Given the description of an element on the screen output the (x, y) to click on. 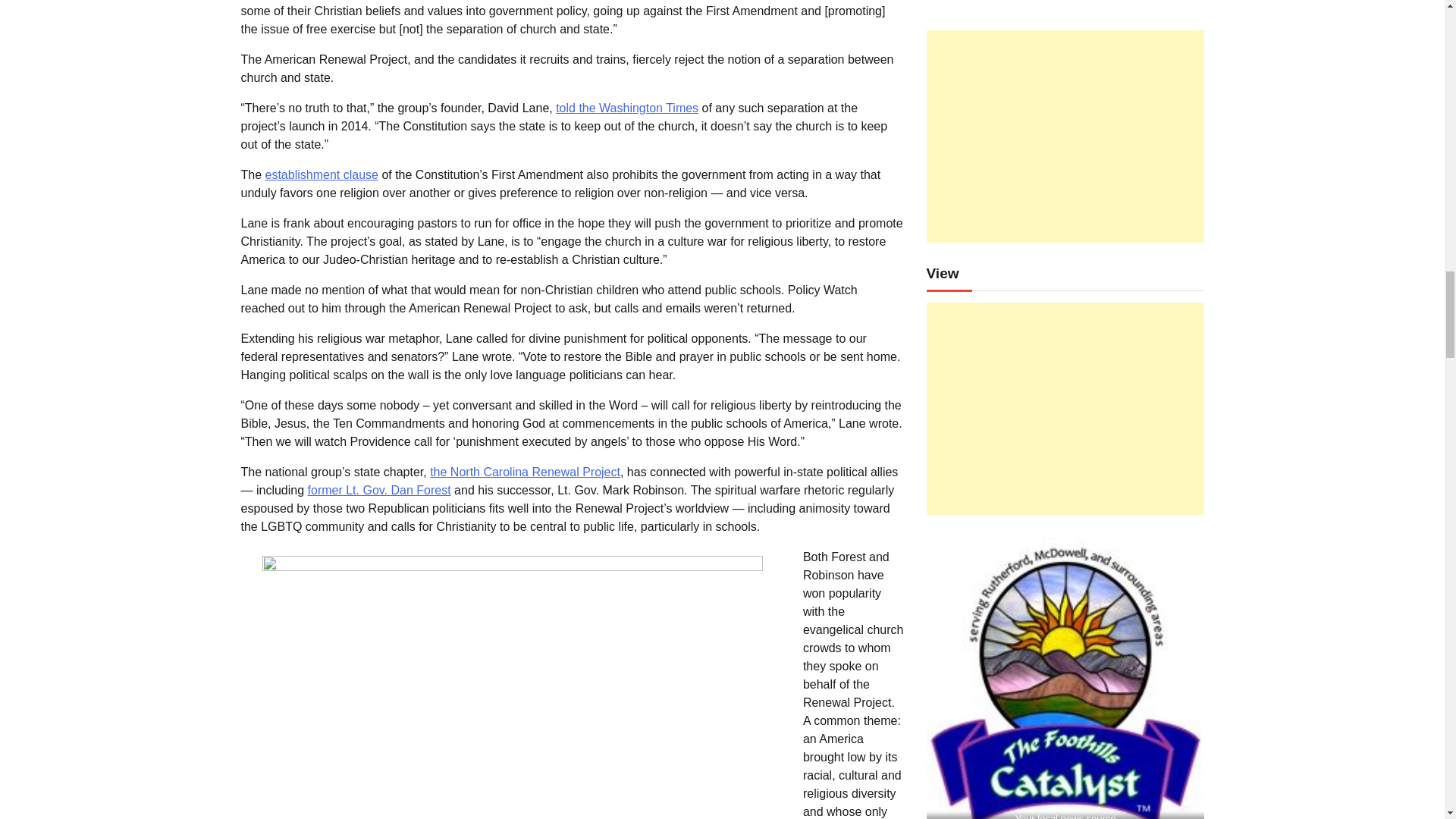
told the Washington Times (627, 107)
the North Carolina Renewal Project (524, 472)
former Lt. Gov. Dan Forest (379, 490)
establishment clause (321, 174)
